Given the description of an element on the screen output the (x, y) to click on. 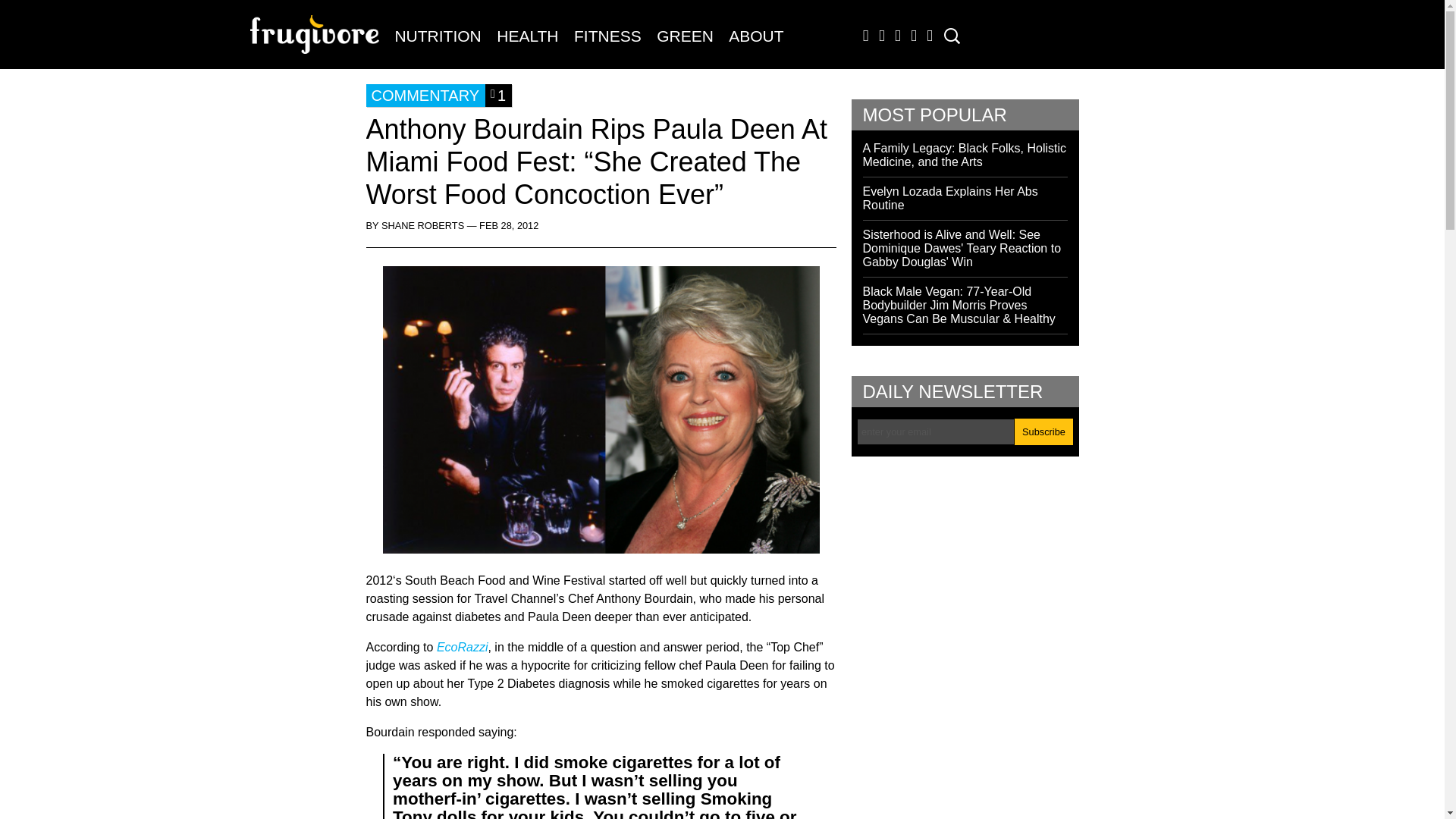
HEALTH (527, 36)
Instagram (910, 38)
NUTRITION (437, 36)
Posts by Shane Roberts (422, 225)
Pinterest (926, 38)
SHANE ROBERTS (422, 225)
1 (498, 95)
Search (23, 13)
enter your email (935, 431)
EcoRazzi (461, 646)
Tumblr (894, 38)
Twitter (878, 38)
FITNESS (607, 36)
FRUGIVORE (317, 42)
